Given the description of an element on the screen output the (x, y) to click on. 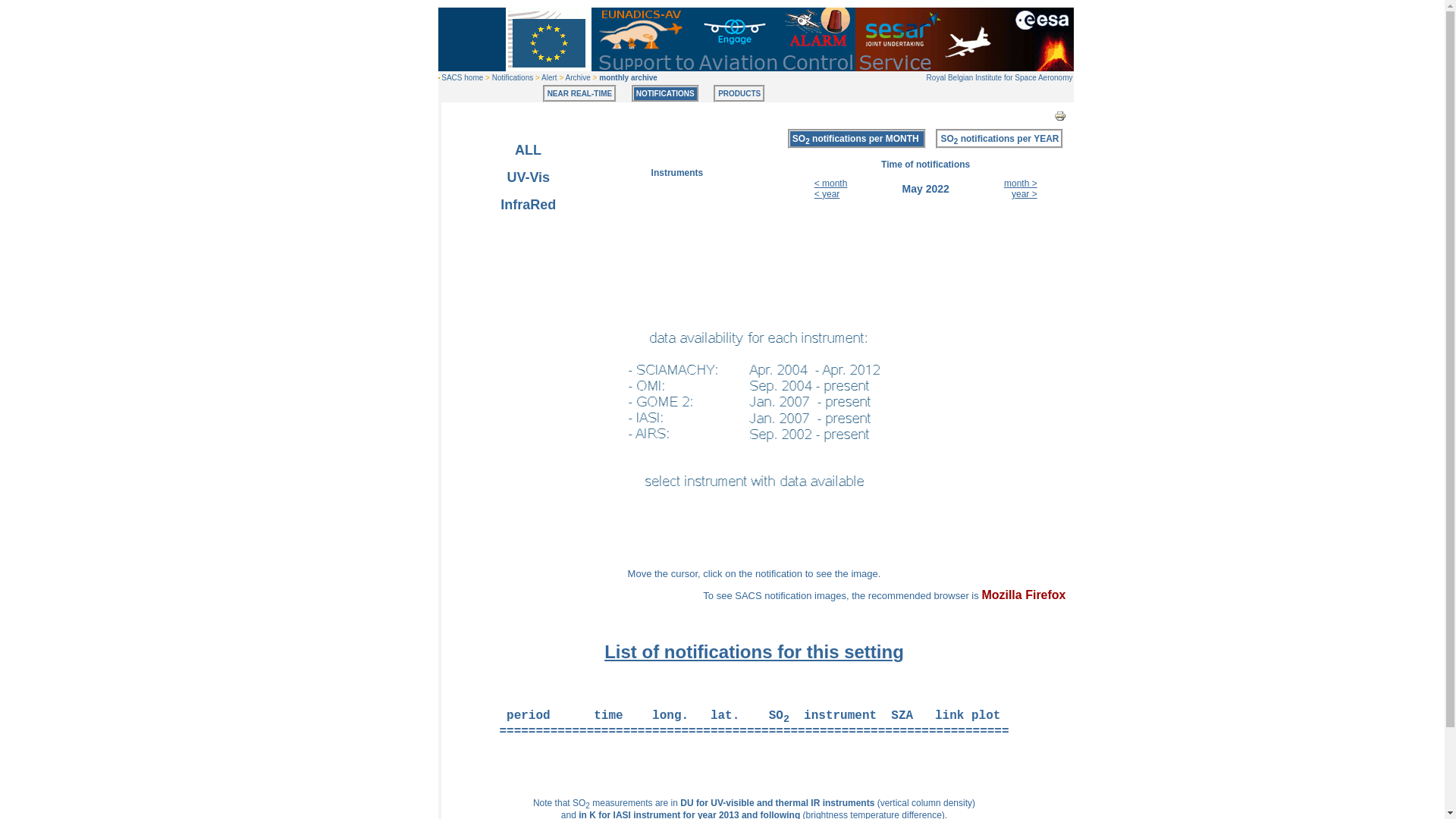
print page (1059, 115)
NEAR REAL-TIME (580, 93)
NOTIFICATIONS (664, 93)
SACS home (462, 77)
InfraRed (528, 204)
PRODUCTS (739, 93)
Alert (549, 77)
Royal Belgian Institute for Space Aeronomy (999, 77)
Home Page (462, 77)
Home Page (512, 77)
BIRA-IASB (999, 77)
Mozilla Firefox (1023, 595)
SO2 notifications per MONTH (855, 138)
ALL (528, 150)
SO2 notifications per YEAR (999, 138)
